Given the description of an element on the screen output the (x, y) to click on. 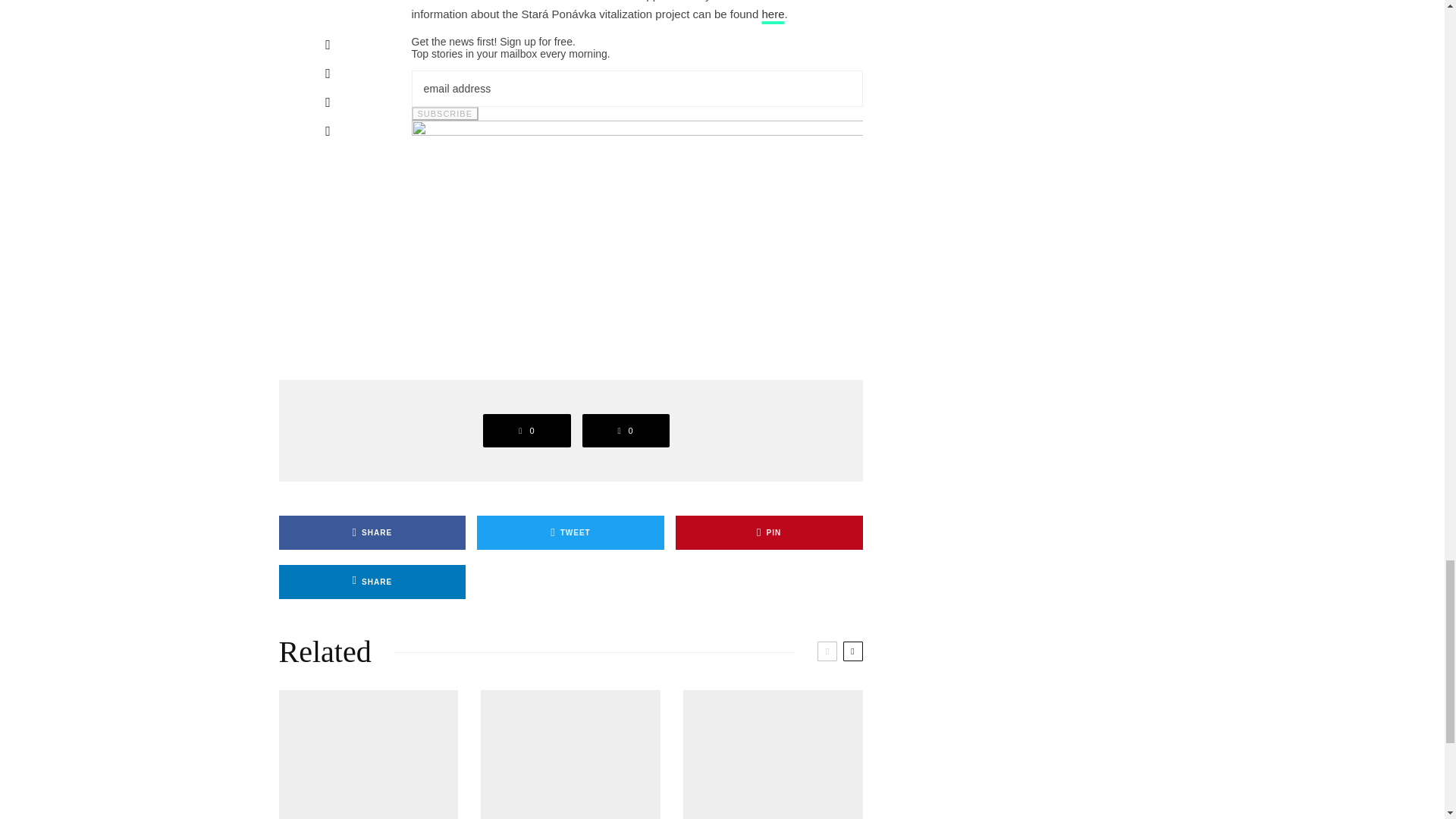
Subscribe (443, 113)
